Given the description of an element on the screen output the (x, y) to click on. 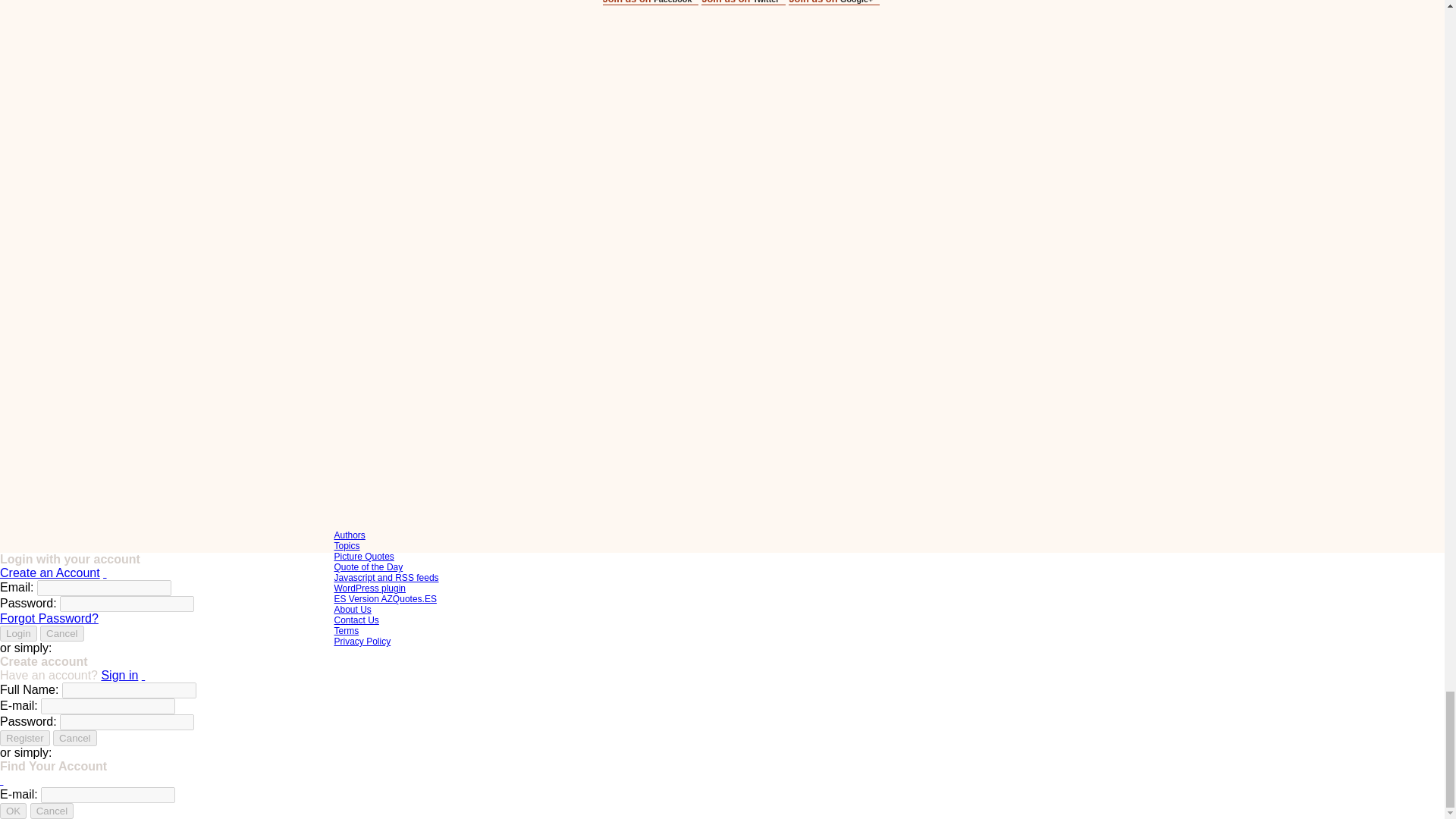
Cancel (74, 738)
Register (24, 738)
Cancel (62, 633)
Login (18, 633)
